Given the description of an element on the screen output the (x, y) to click on. 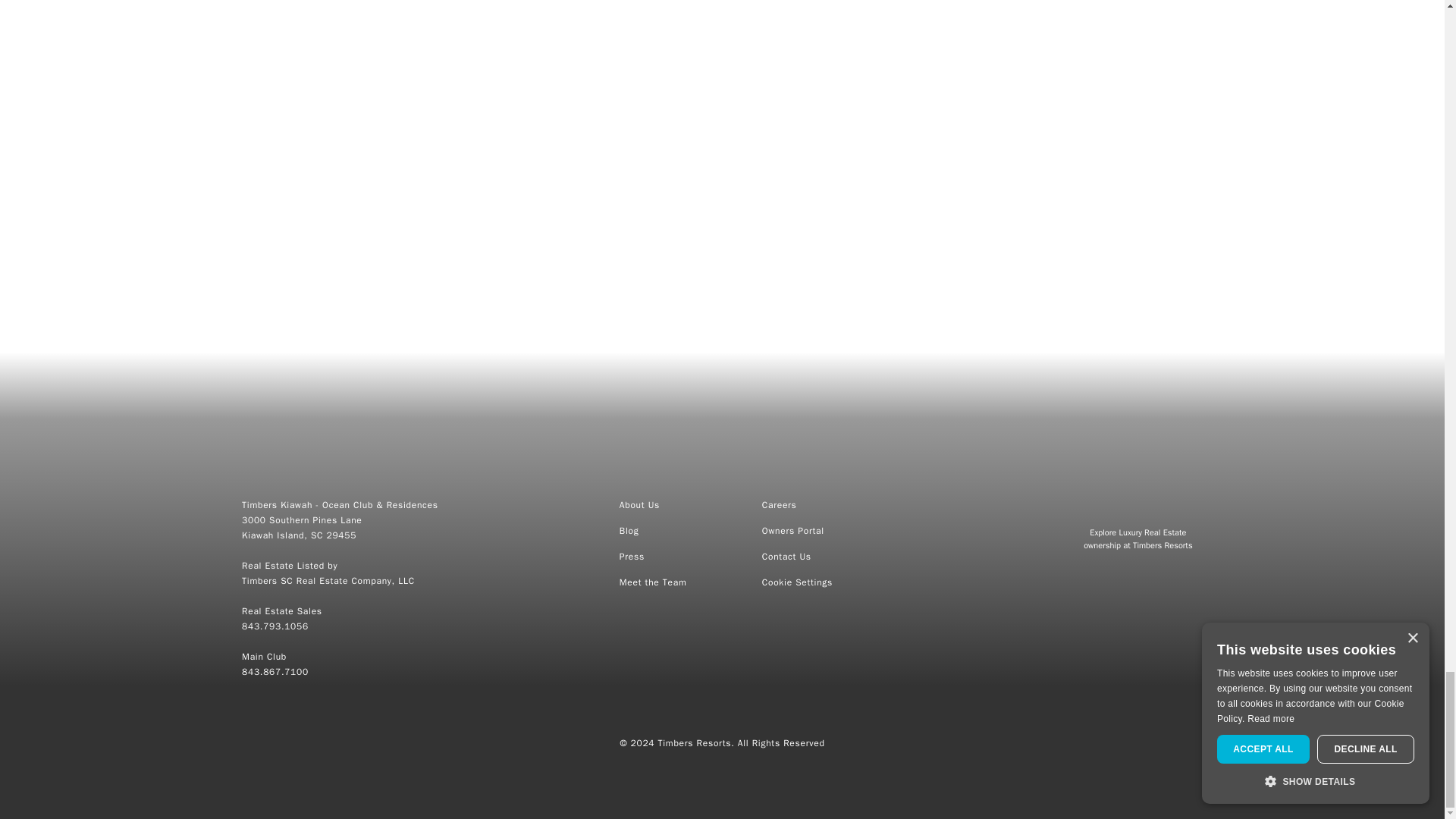
Connect with us on instagram (746, 72)
Connect with us on facebook (696, 72)
